Given the description of an element on the screen output the (x, y) to click on. 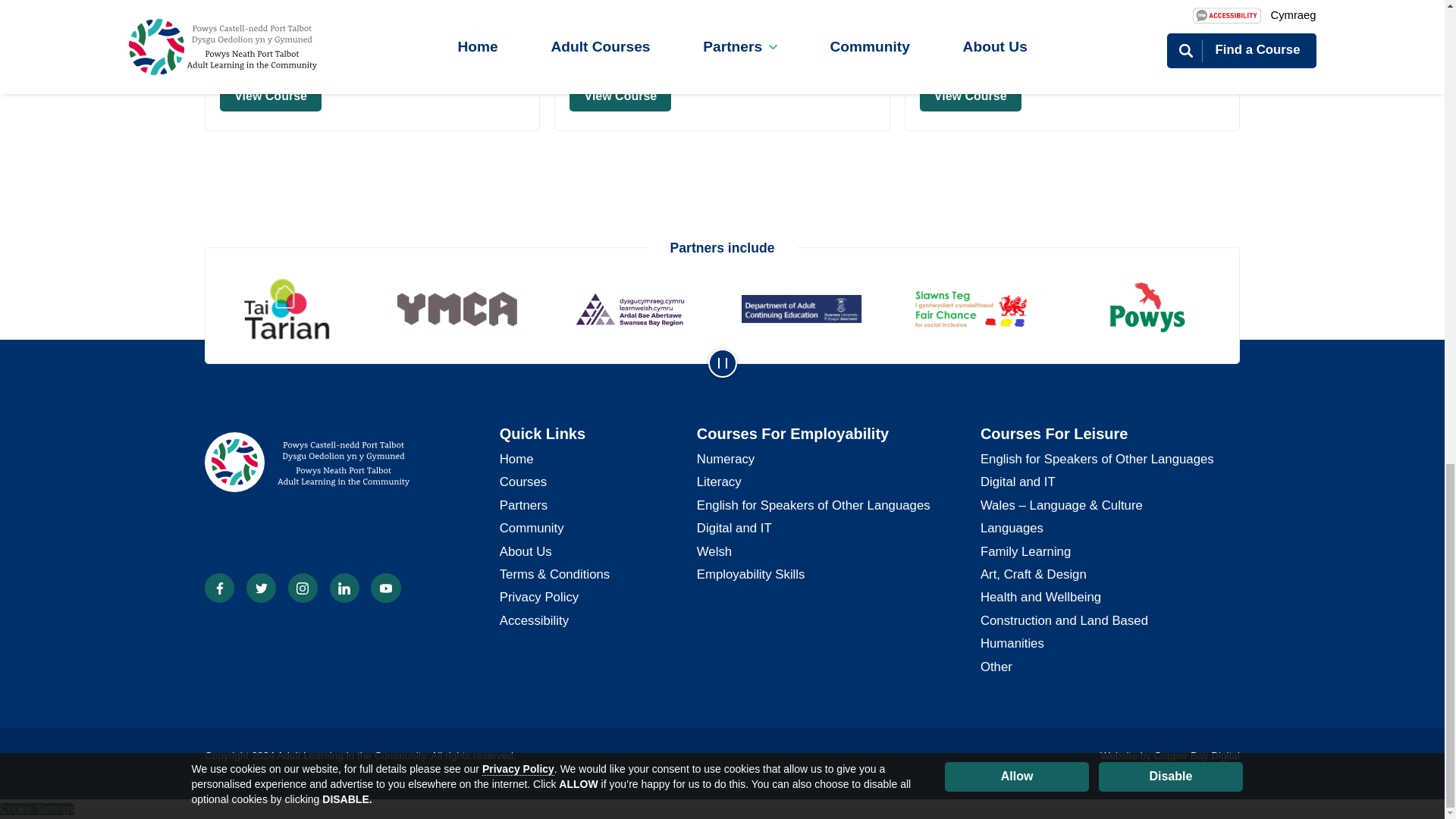
Link to YMCA (463, 309)
Link to Tai Tarian (291, 309)
Link to Powys (1152, 309)
Link to Department of Adult Continuing Edication (807, 308)
Link to Fair Chance (980, 309)
Link to Ardal Bae Abertawe (636, 308)
